Given the description of an element on the screen output the (x, y) to click on. 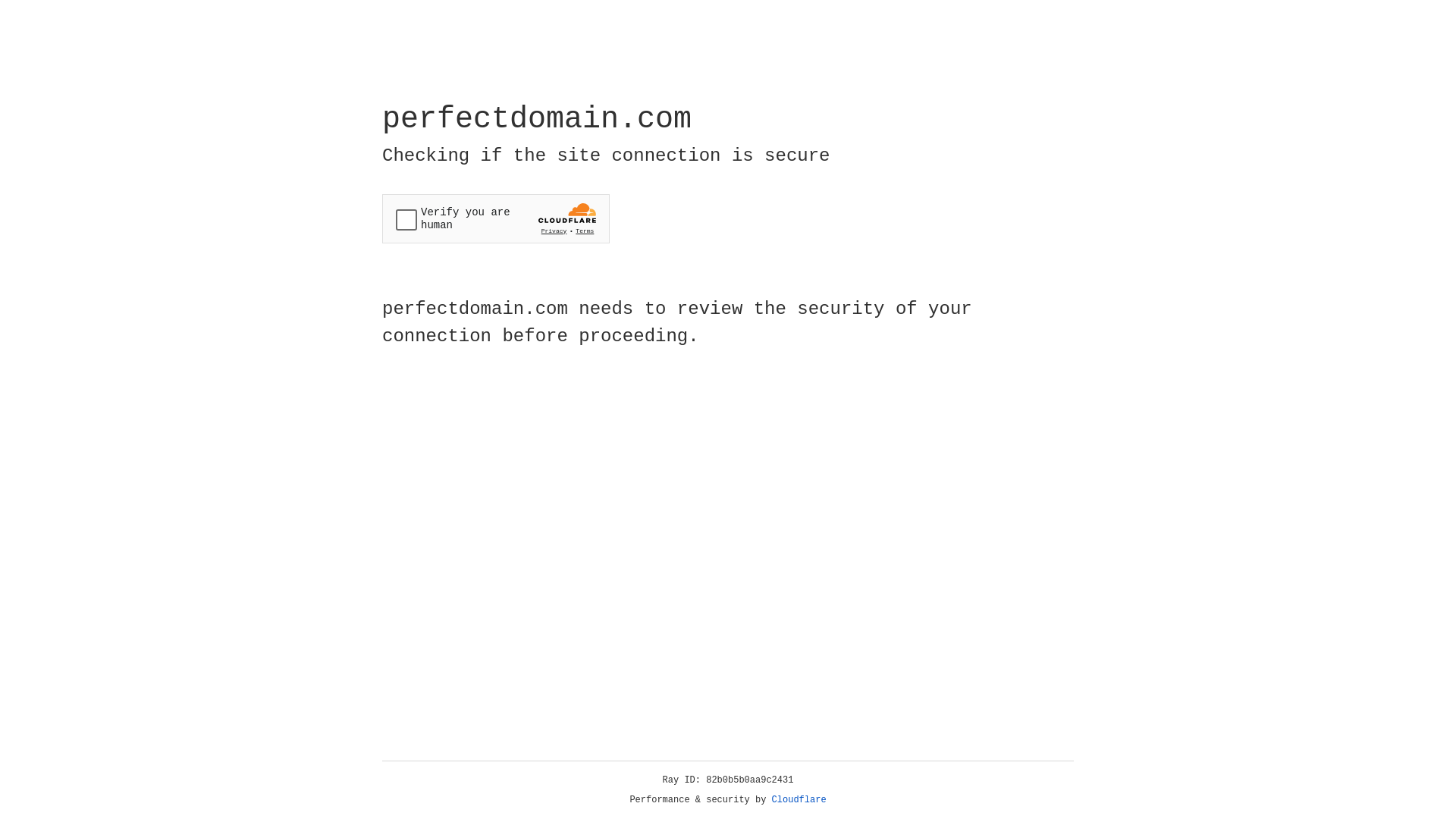
Cloudflare Element type: text (798, 799)
Widget containing a Cloudflare security challenge Element type: hover (495, 218)
